Given the description of an element on the screen output the (x, y) to click on. 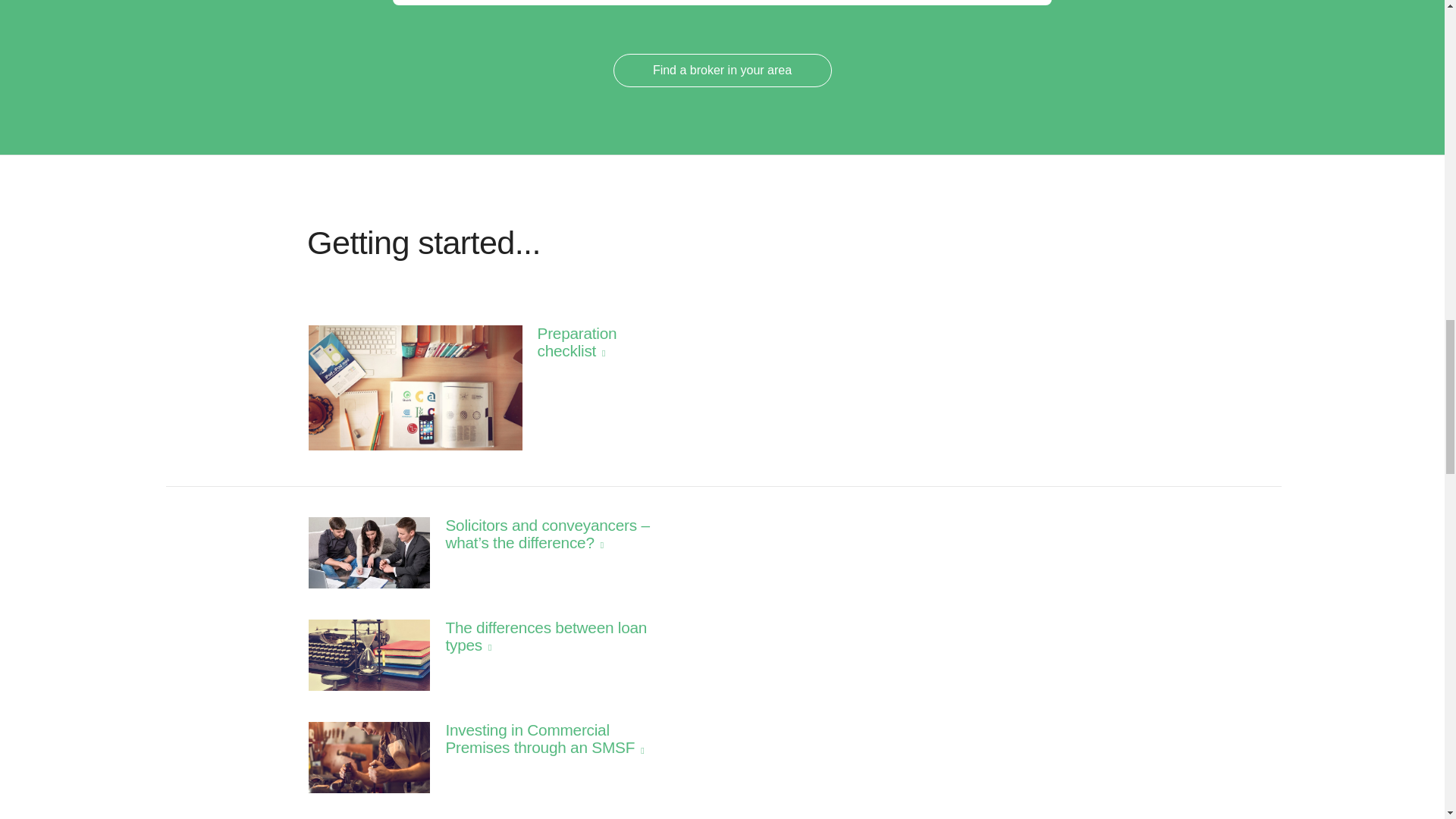
The differences between loan types (510, 636)
Investing in Commercial Premises through an SMSF (510, 738)
Find a broker in your area (721, 70)
Preparation checklist (510, 342)
